Given the description of an element on the screen output the (x, y) to click on. 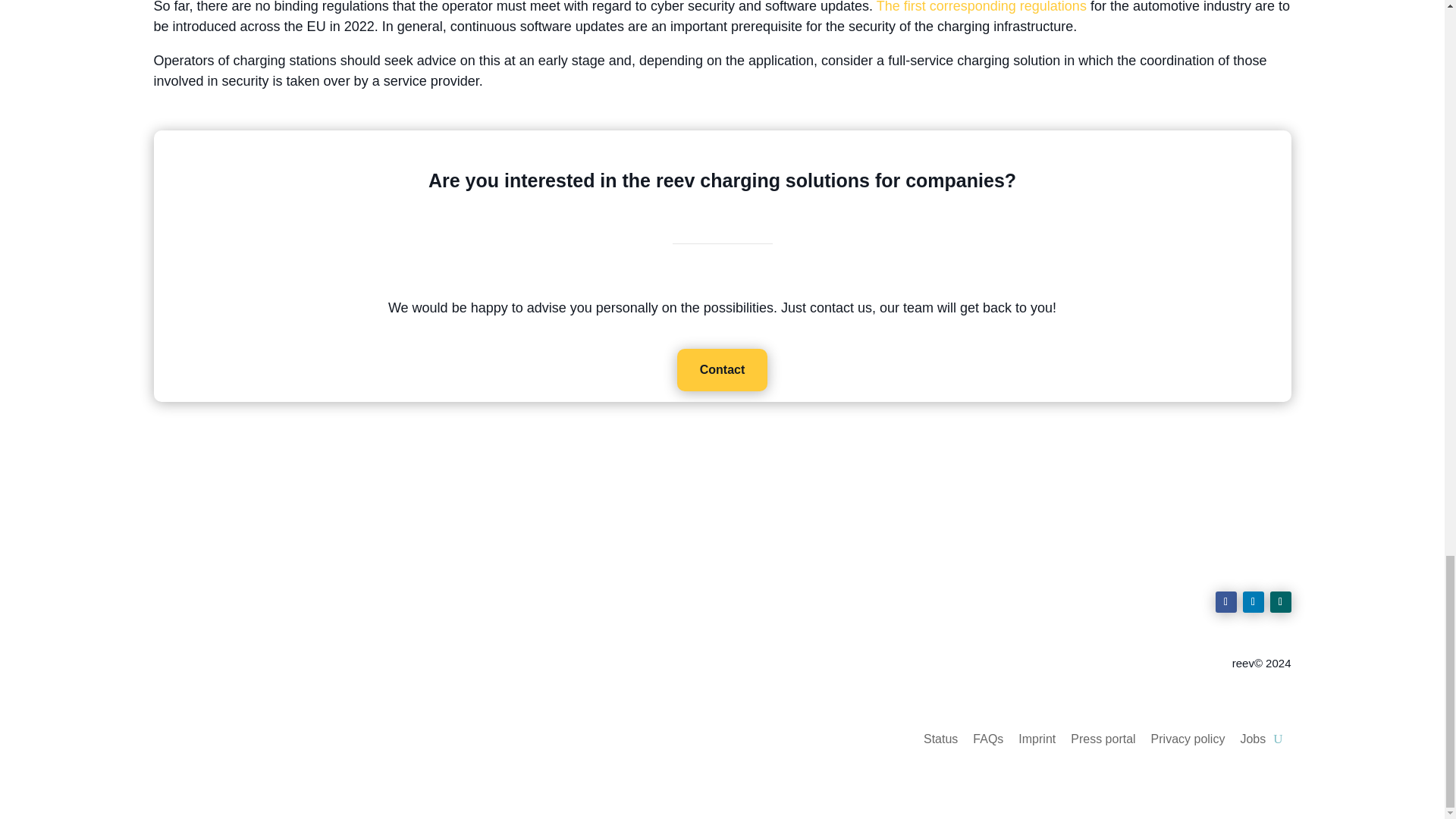
Follow on LinkedIn (1252, 601)
Follow on XING (1279, 601)
Follow on Facebook (1225, 601)
